Given the description of an element on the screen output the (x, y) to click on. 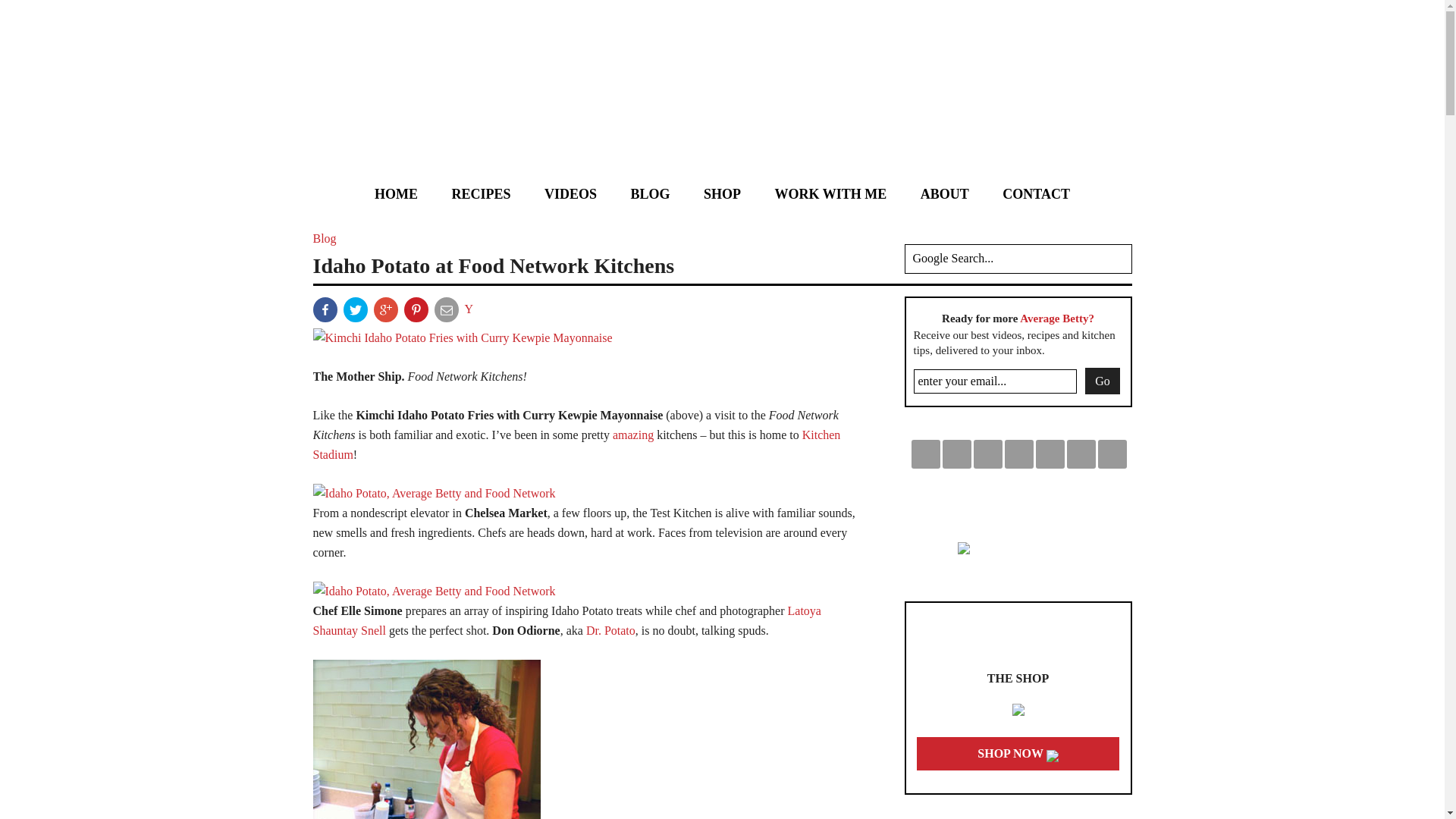
Kitchen Stadium (576, 444)
Dr. Potato (610, 630)
Kimchi Idaho Potato Fries with Curry Kewpie Mayonnaise (462, 337)
ABOUT (944, 193)
CONTACT (1035, 193)
RECIPES (480, 193)
Idaho Potato, Average Betty and Food Network (433, 492)
BLOG (650, 193)
Idaho Potato, Average Betty and Food Network (433, 590)
